Given the description of an element on the screen output the (x, y) to click on. 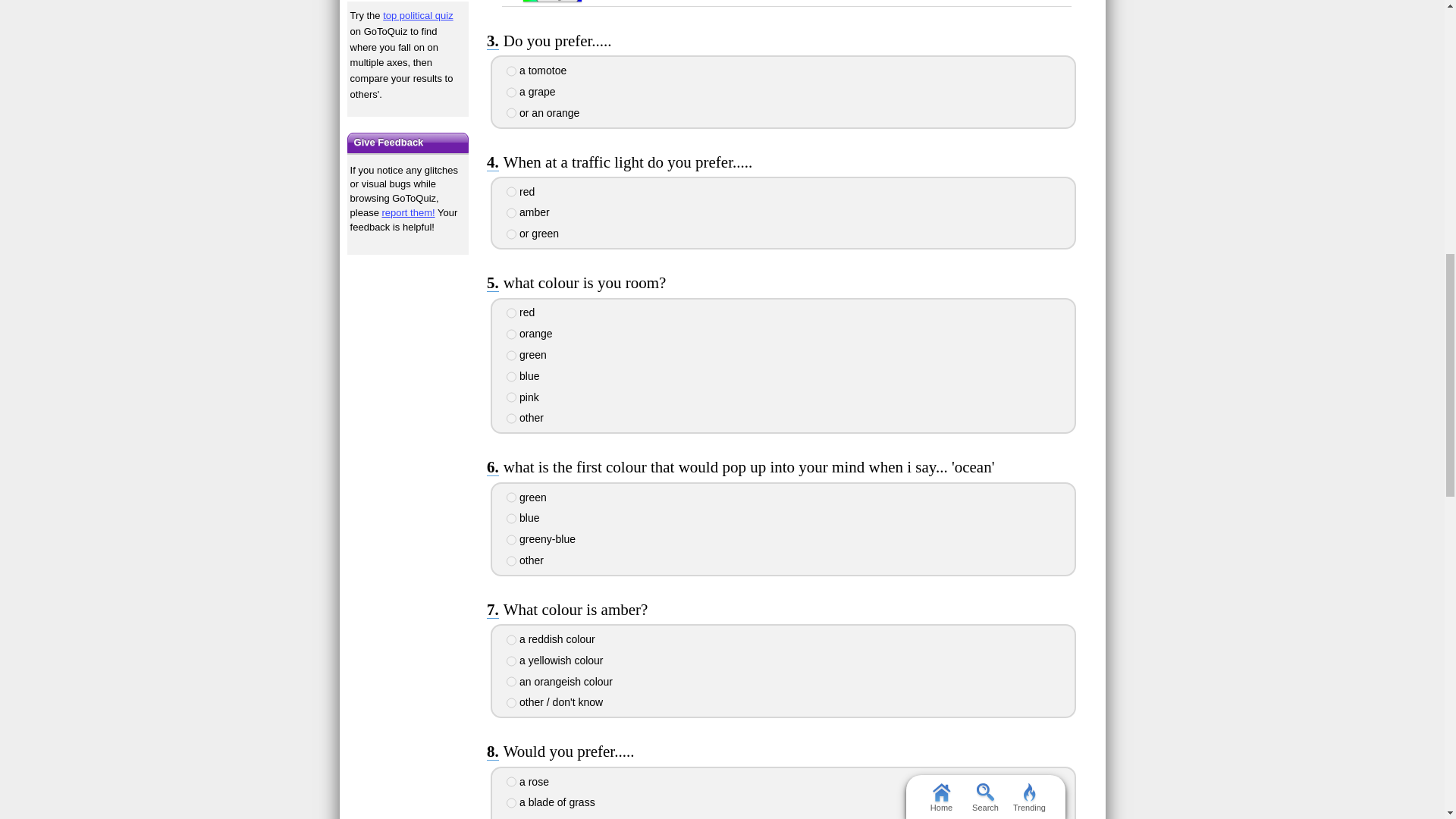
2 (511, 91)
5 (511, 397)
3 (511, 112)
2 (511, 334)
Take our featured politics quiz (407, 0)
3 (511, 355)
3 (511, 234)
4 (511, 376)
1 (511, 71)
top political quiz (417, 15)
report them! (408, 212)
2 (511, 213)
1 (511, 191)
1 (511, 312)
